Given the description of an element on the screen output the (x, y) to click on. 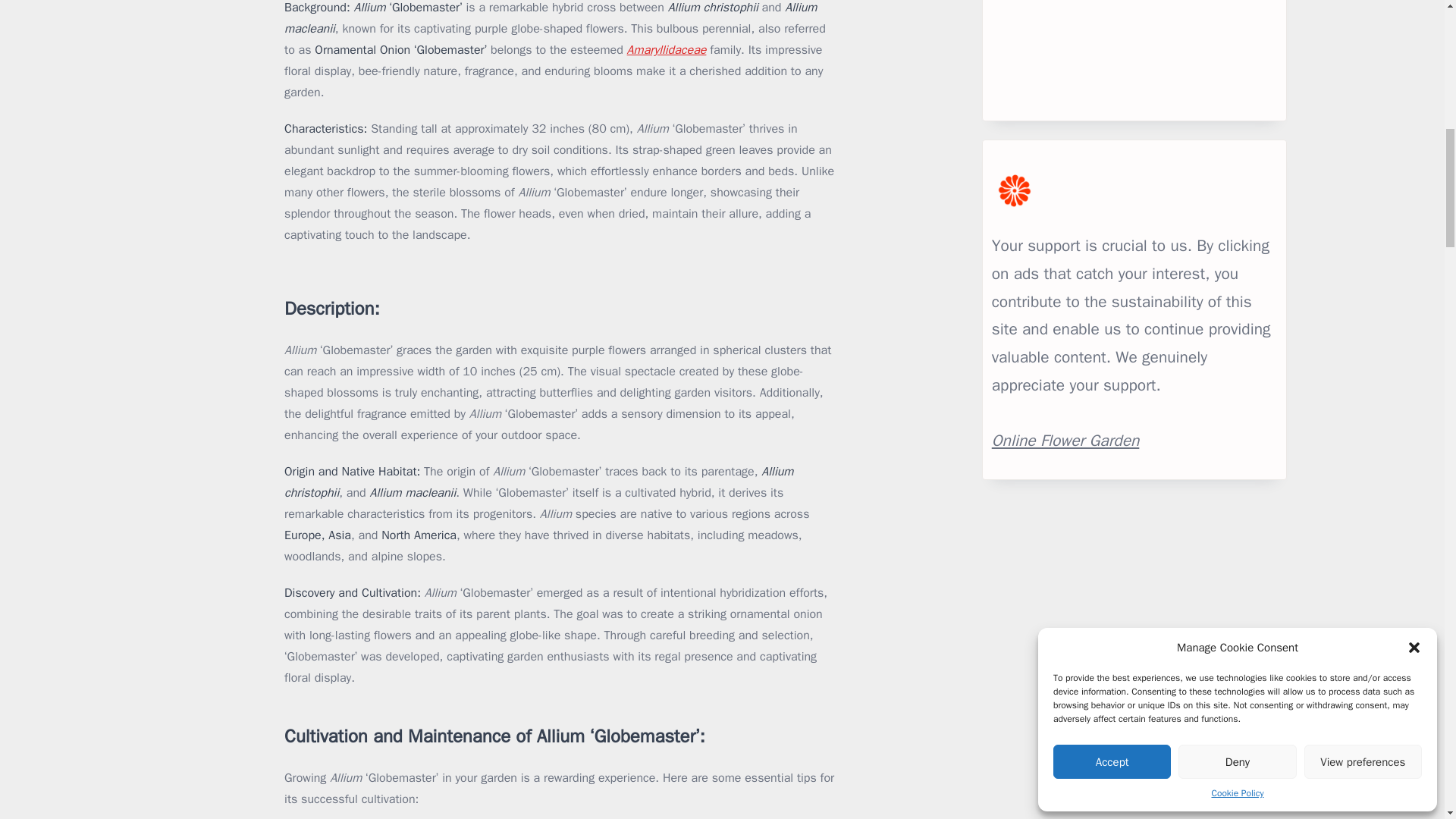
online-flower-garden (1065, 440)
Advertisement (1133, 55)
Amaryllidaceae (666, 49)
